Given the description of an element on the screen output the (x, y) to click on. 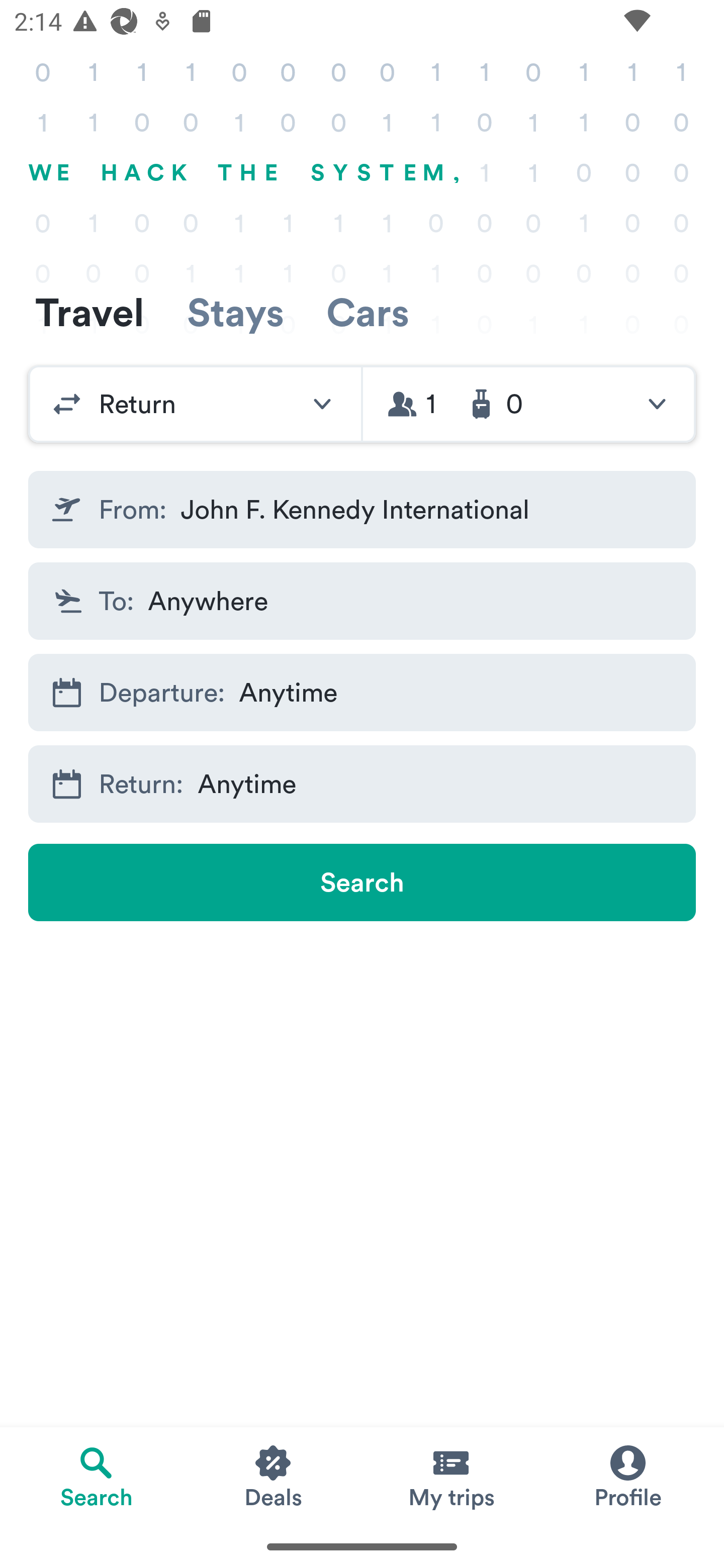
Travel (89, 311)
Stays (235, 311)
Cars (367, 311)
Return (194, 404)
Passengers 1 Bags 0 (528, 404)
From: John F. Kennedy International (361, 509)
To: Anywhere (361, 600)
Departure: Anytime (361, 692)
Return: Anytime (361, 783)
Search (361, 882)
Deals (273, 1475)
My trips (450, 1475)
Profile (627, 1475)
